Given the description of an element on the screen output the (x, y) to click on. 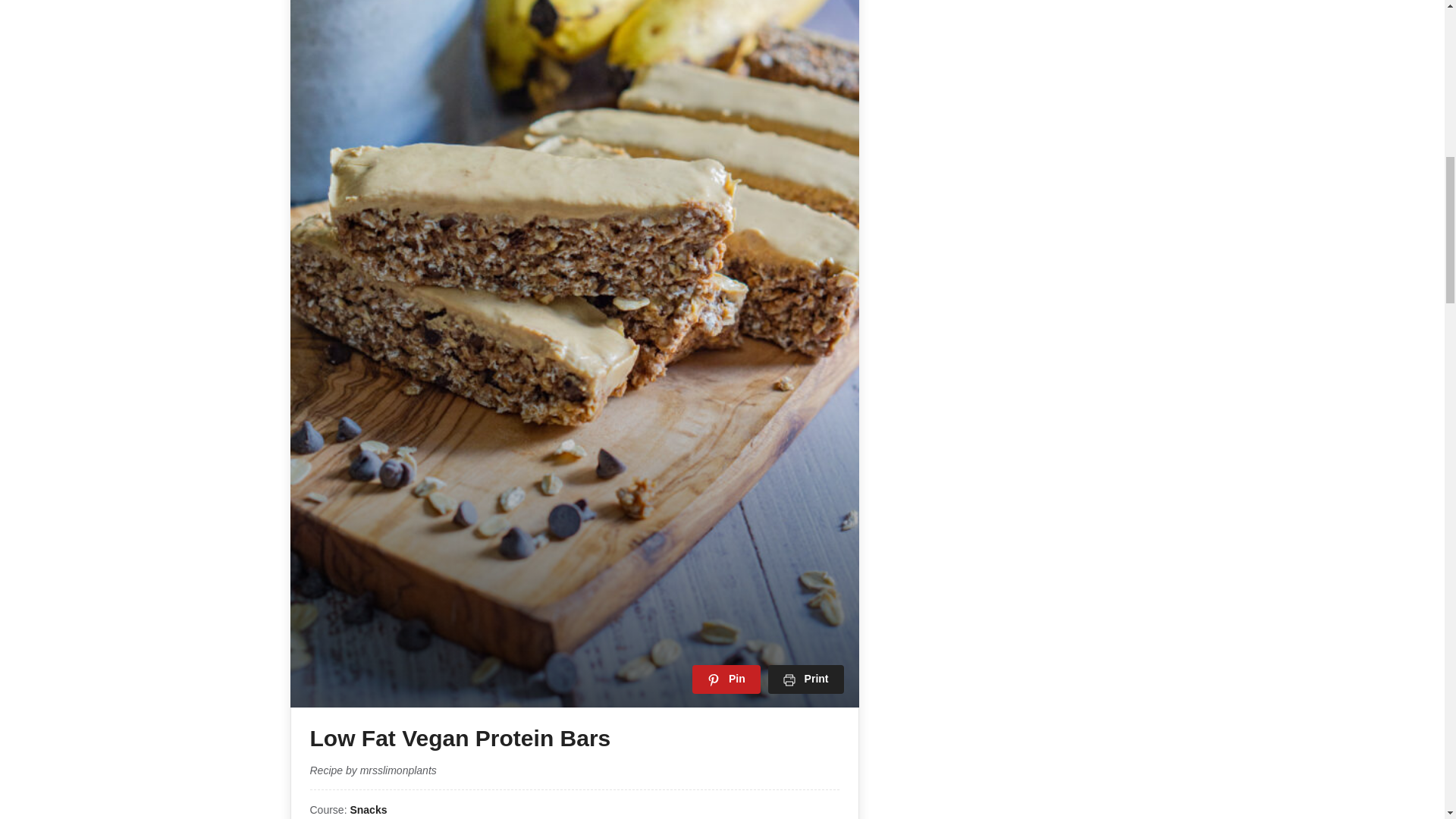
Print directions... (806, 678)
